Given the description of an element on the screen output the (x, y) to click on. 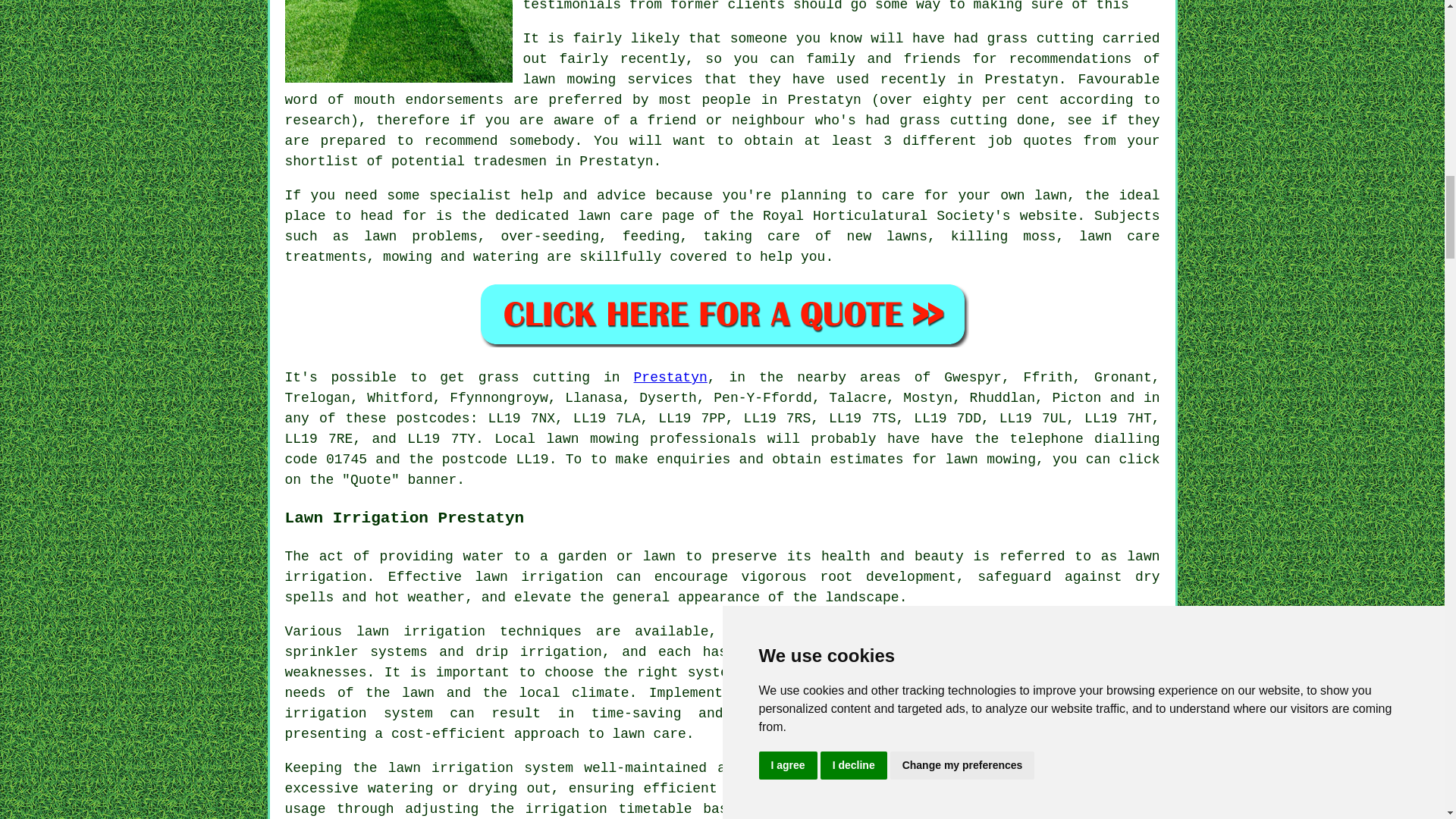
lawn mowing (592, 438)
Gardener Quotes in Prestatyn Wales (722, 314)
lawn irrigation (722, 566)
grass cutting (535, 377)
lawn mowing (989, 459)
Lawn Irrigation Prestatyn (1046, 696)
